Given the description of an element on the screen output the (x, y) to click on. 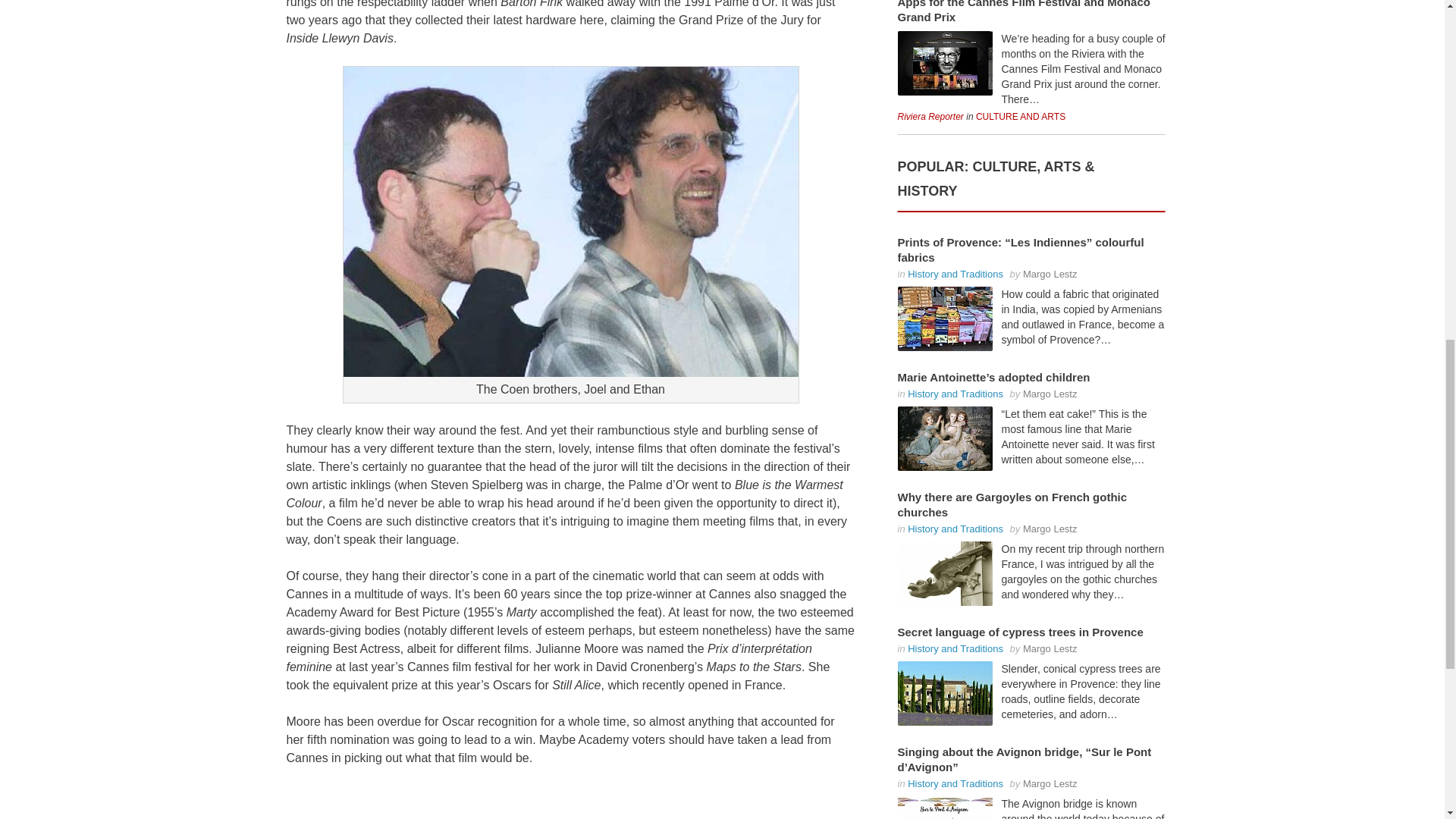
Secret language of cypress trees in Provence (945, 692)
Why there are Gargoyles on French gothic churches (945, 573)
